Given the description of an element on the screen output the (x, y) to click on. 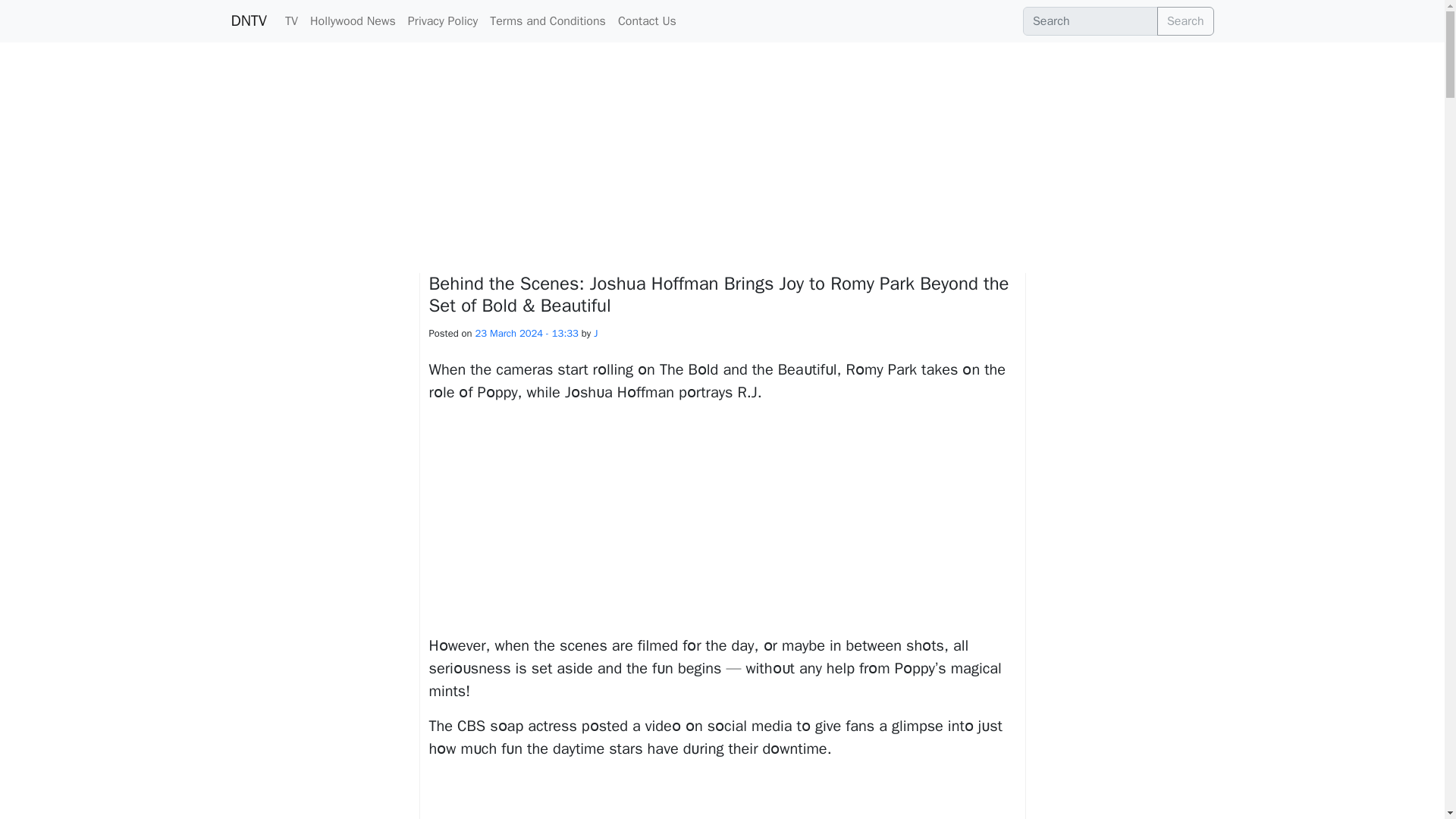
Privacy Policy (442, 20)
DNTV (248, 20)
Contact Us (646, 20)
Terms and Conditions (547, 20)
Hollywood News (352, 20)
23 March 2024 - 13:33 (527, 332)
Hollywood News (352, 20)
Terms and Conditions (547, 20)
23 March 2024 - 13:33 (527, 332)
Contact Us (646, 20)
DNTV (248, 20)
Search (1185, 21)
Advertisement (722, 522)
Advertisement (722, 796)
